Given the description of an element on the screen output the (x, y) to click on. 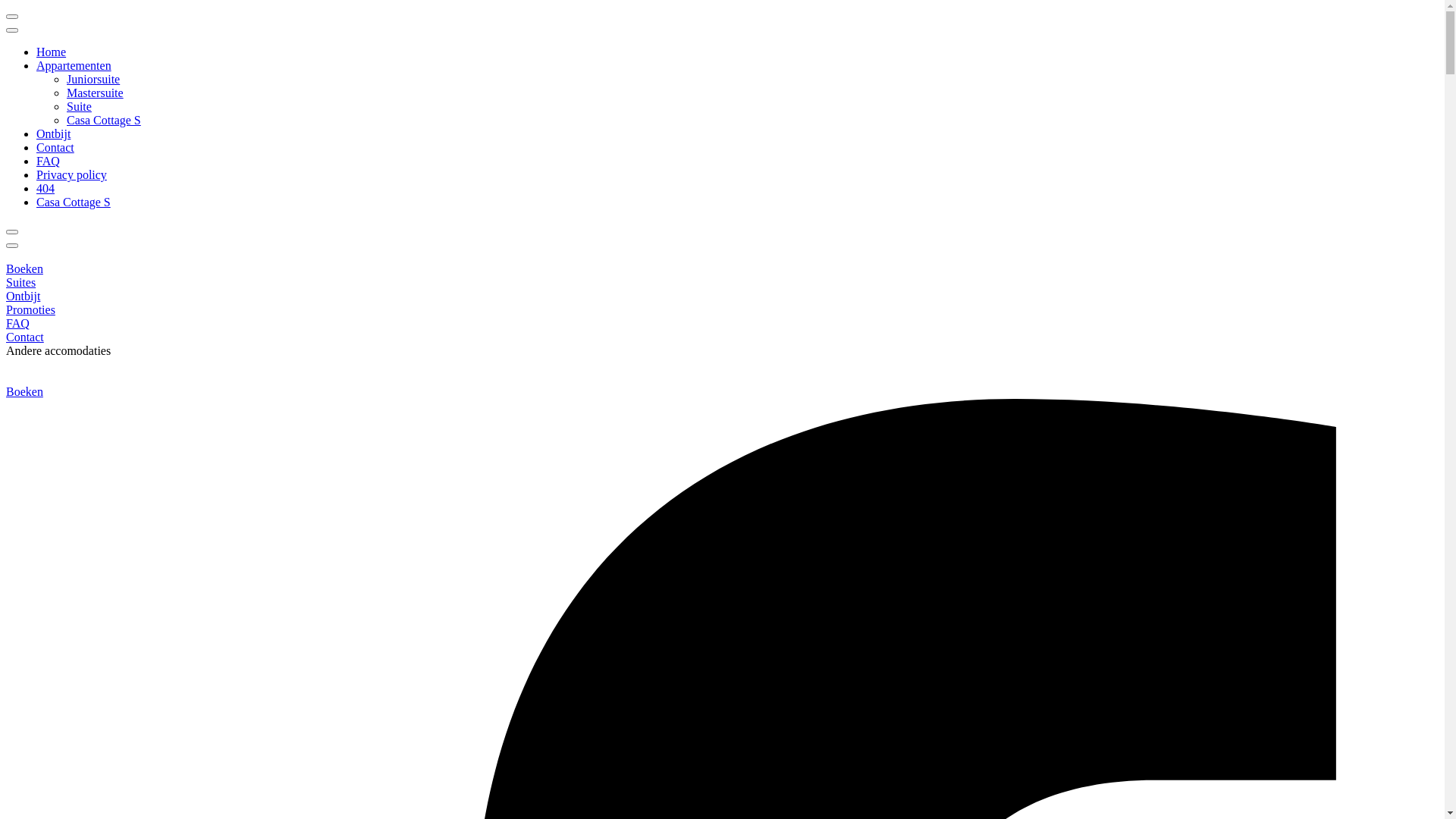
Boeken Element type: text (24, 268)
Casa Cottage S Element type: text (103, 119)
FAQ Element type: text (17, 322)
Casa Cottage S Element type: text (73, 201)
Promoties Element type: text (30, 309)
Juniorsuite Element type: text (92, 78)
Suites Element type: text (20, 282)
Mastersuite Element type: text (94, 92)
Boeken Element type: text (24, 391)
404 Element type: text (45, 188)
Appartementen Element type: text (73, 65)
FAQ Element type: text (47, 160)
Contact Element type: text (24, 336)
Suite Element type: text (78, 106)
Contact Element type: text (55, 147)
Home Element type: text (50, 51)
Ontbijt Element type: text (23, 295)
Ontbijt Element type: text (53, 133)
Privacy policy Element type: text (71, 174)
